Given the description of an element on the screen output the (x, y) to click on. 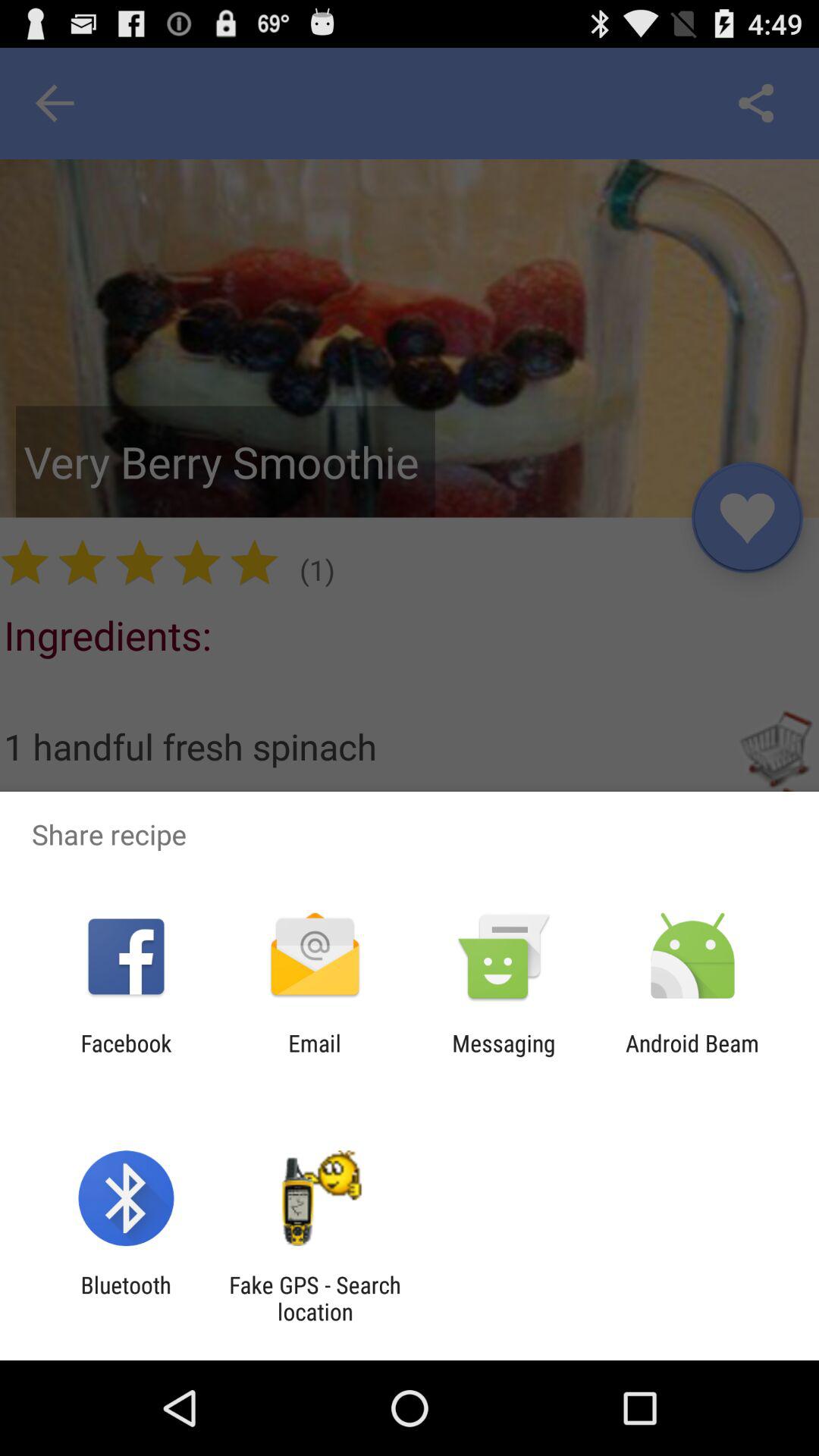
select messaging (503, 1056)
